Given the description of an element on the screen output the (x, y) to click on. 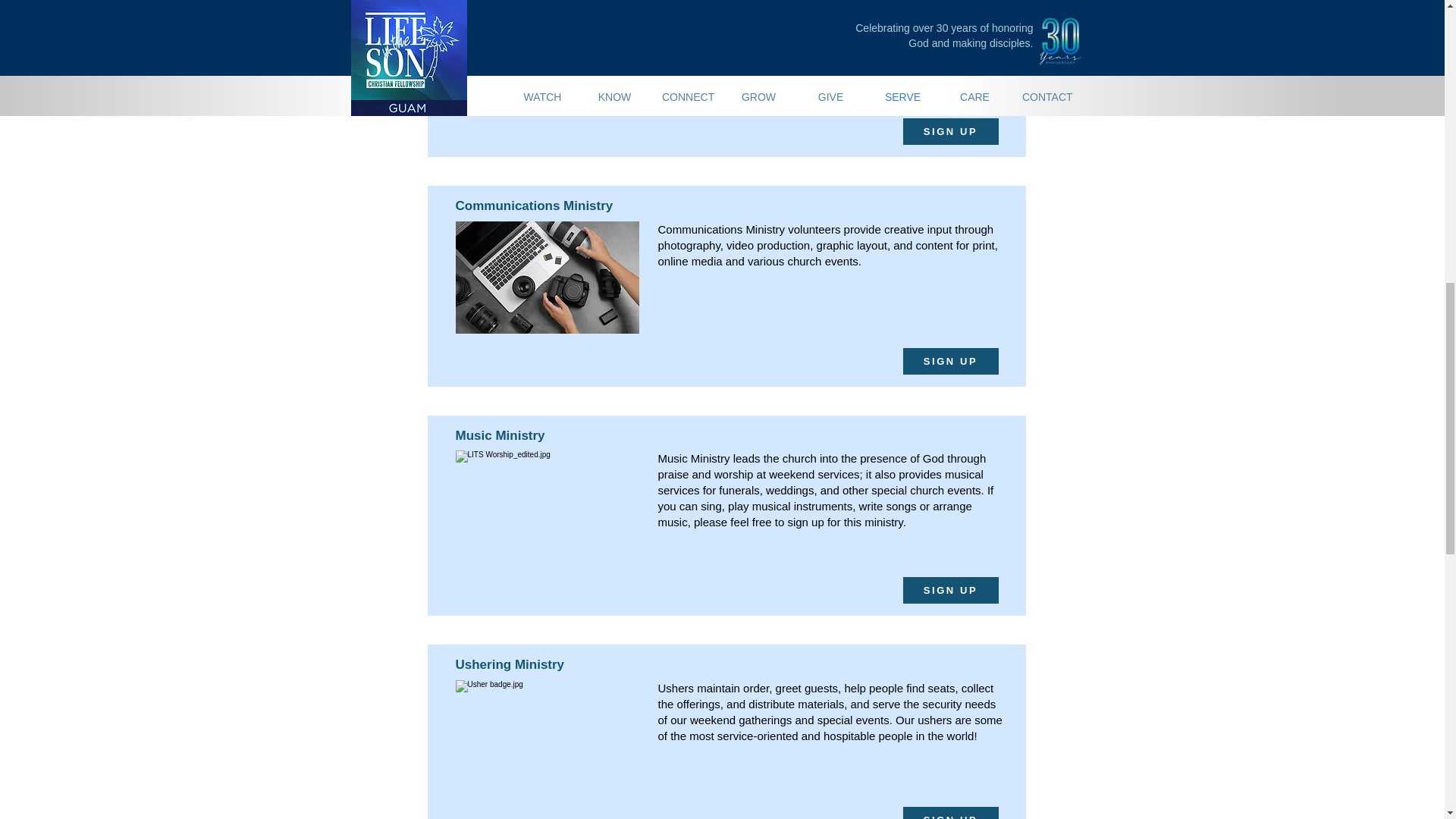
Life Groups Leaders-17.png (546, 277)
SIGN UP (949, 130)
Life Groups Leaders-17.png (546, 506)
Life Groups Leaders-17.png (546, 736)
SIGN UP (949, 590)
Life Groups Leaders-17.png (546, 52)
SIGN UP (949, 361)
SIGN UP (949, 812)
